Given the description of an element on the screen output the (x, y) to click on. 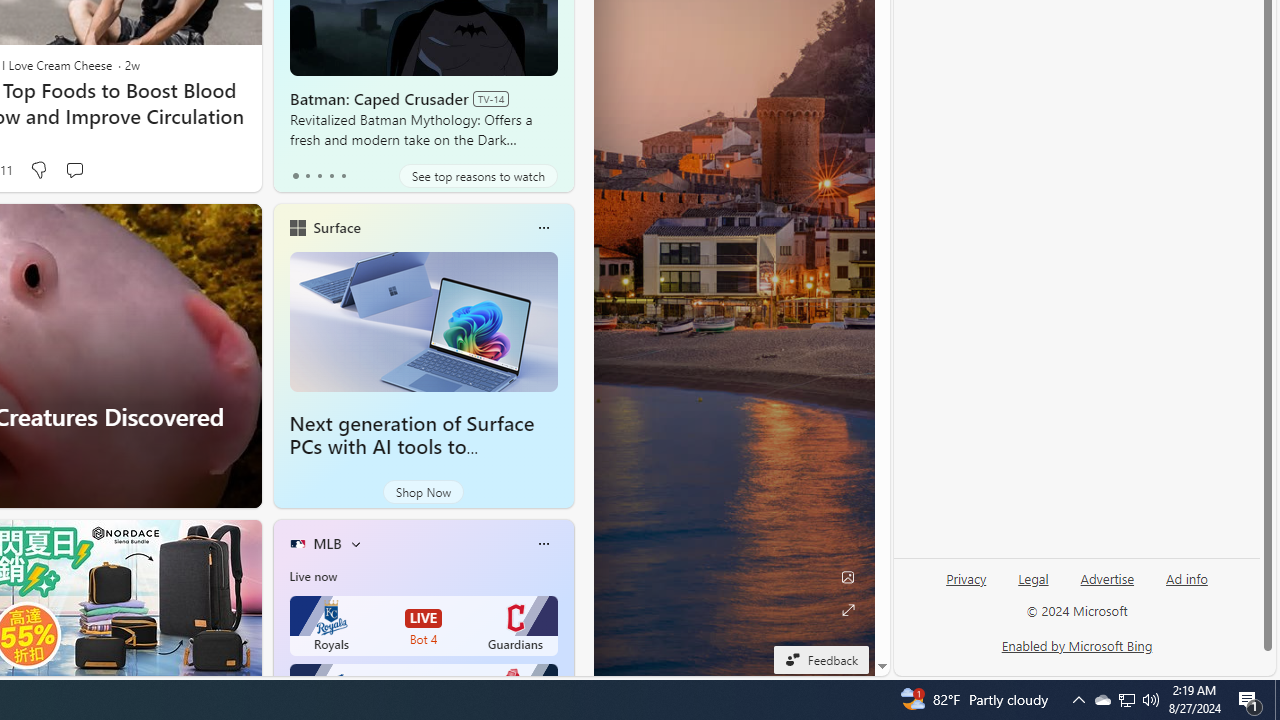
Surface (336, 227)
Class: icon-img (543, 543)
Shop Now (422, 491)
tab-4 (342, 175)
Royals LIVE Bot 4 Guardians (423, 625)
More interests (355, 543)
tab-2 (319, 175)
